Given the description of an element on the screen output the (x, y) to click on. 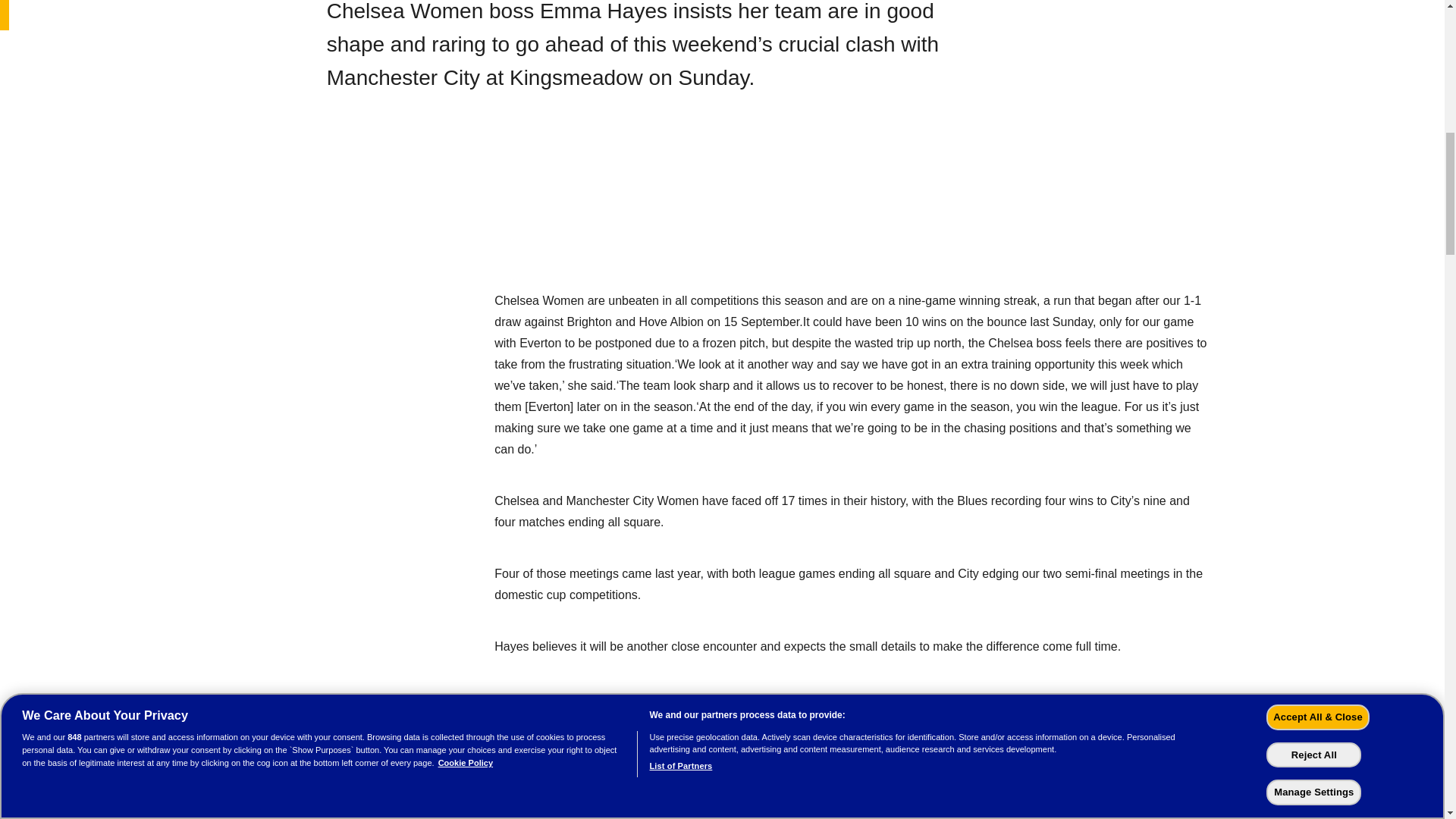
3rd party ad content (727, 207)
